Given the description of an element on the screen output the (x, y) to click on. 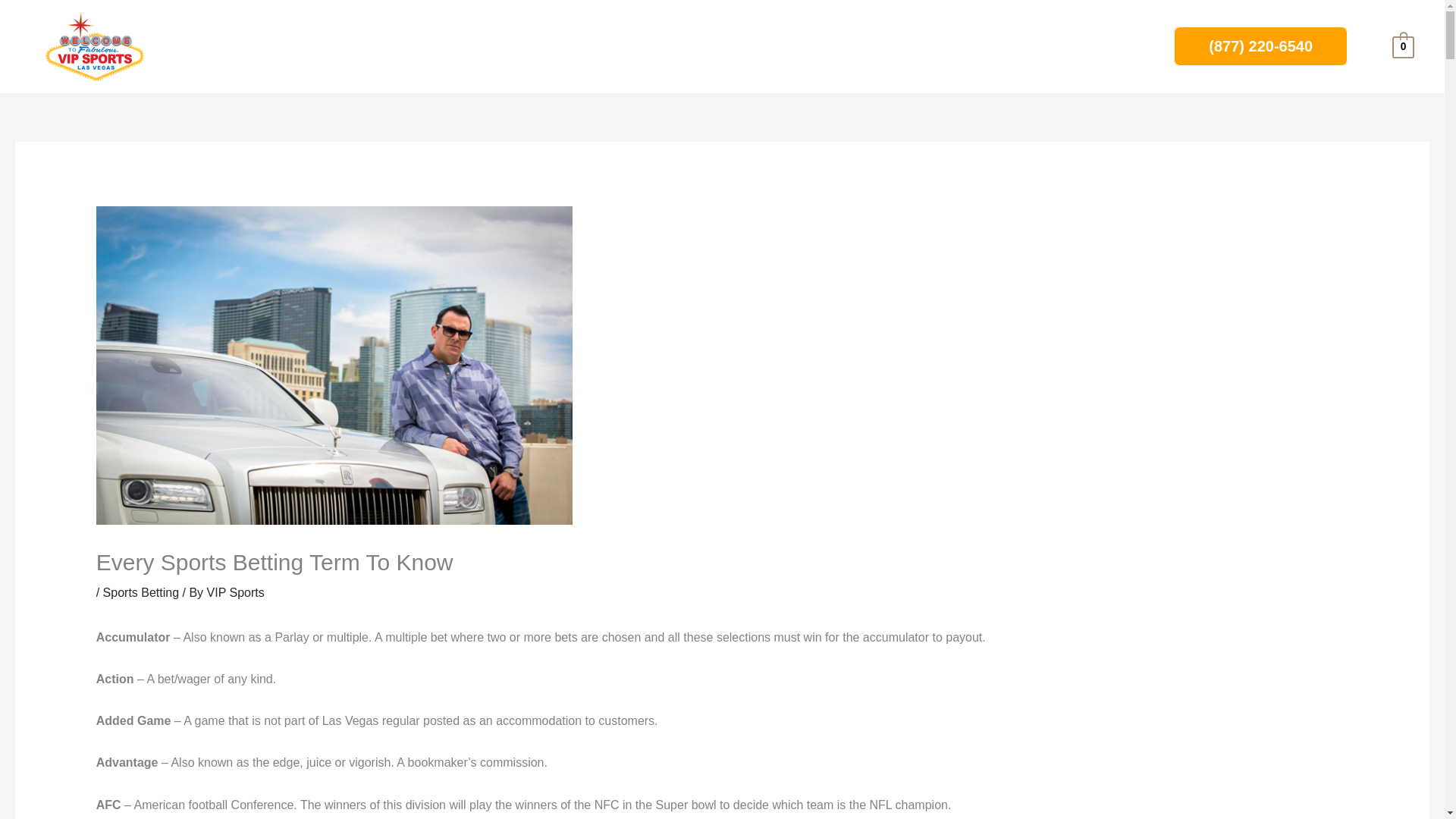
VIP Sports (235, 592)
View all posts by VIP Sports (235, 592)
0 (1402, 45)
Sports Betting (141, 592)
